Given the description of an element on the screen output the (x, y) to click on. 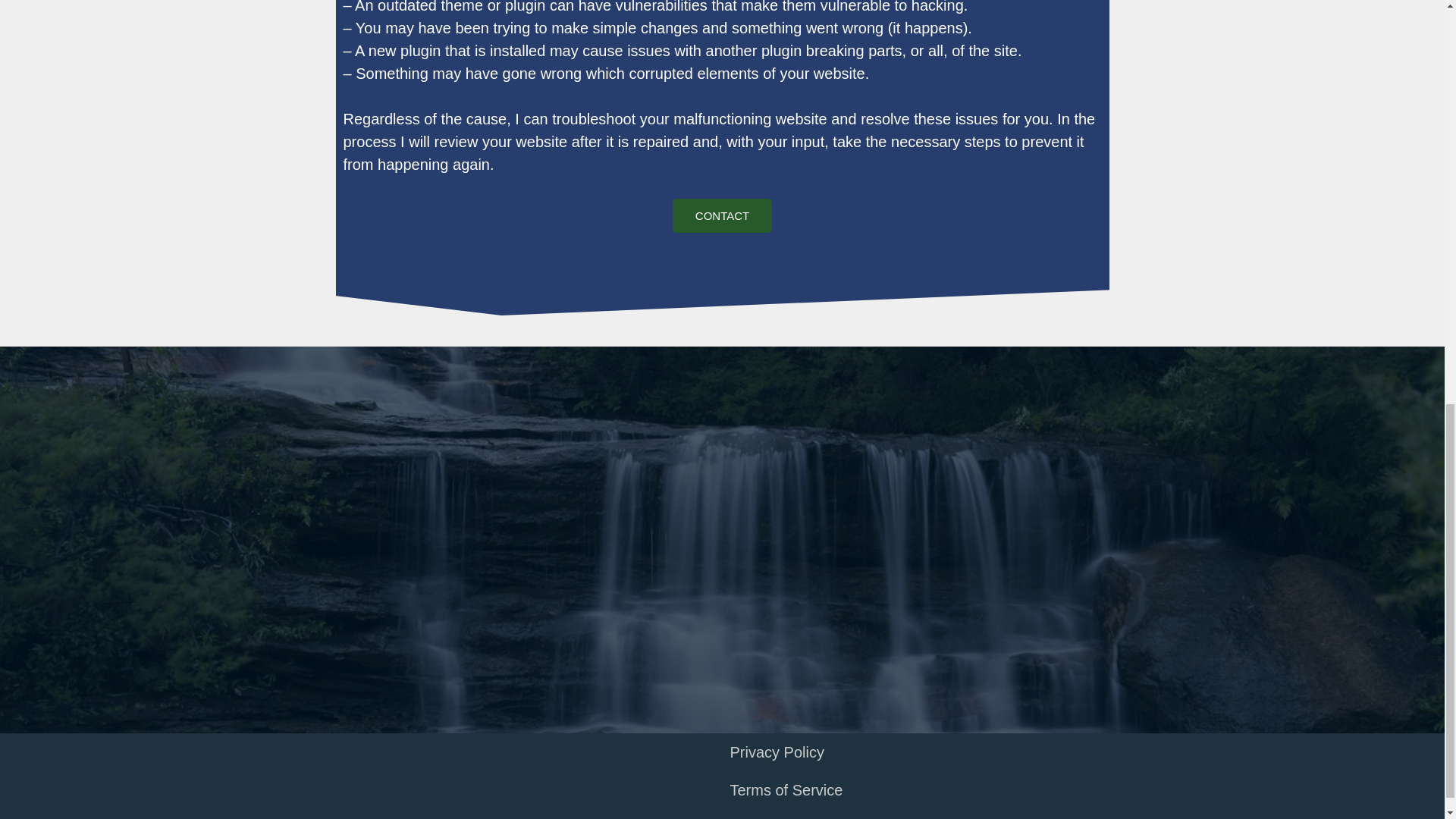
Privacy Policy (947, 752)
CONTACT (721, 215)
Terms of Service (947, 789)
